Given the description of an element on the screen output the (x, y) to click on. 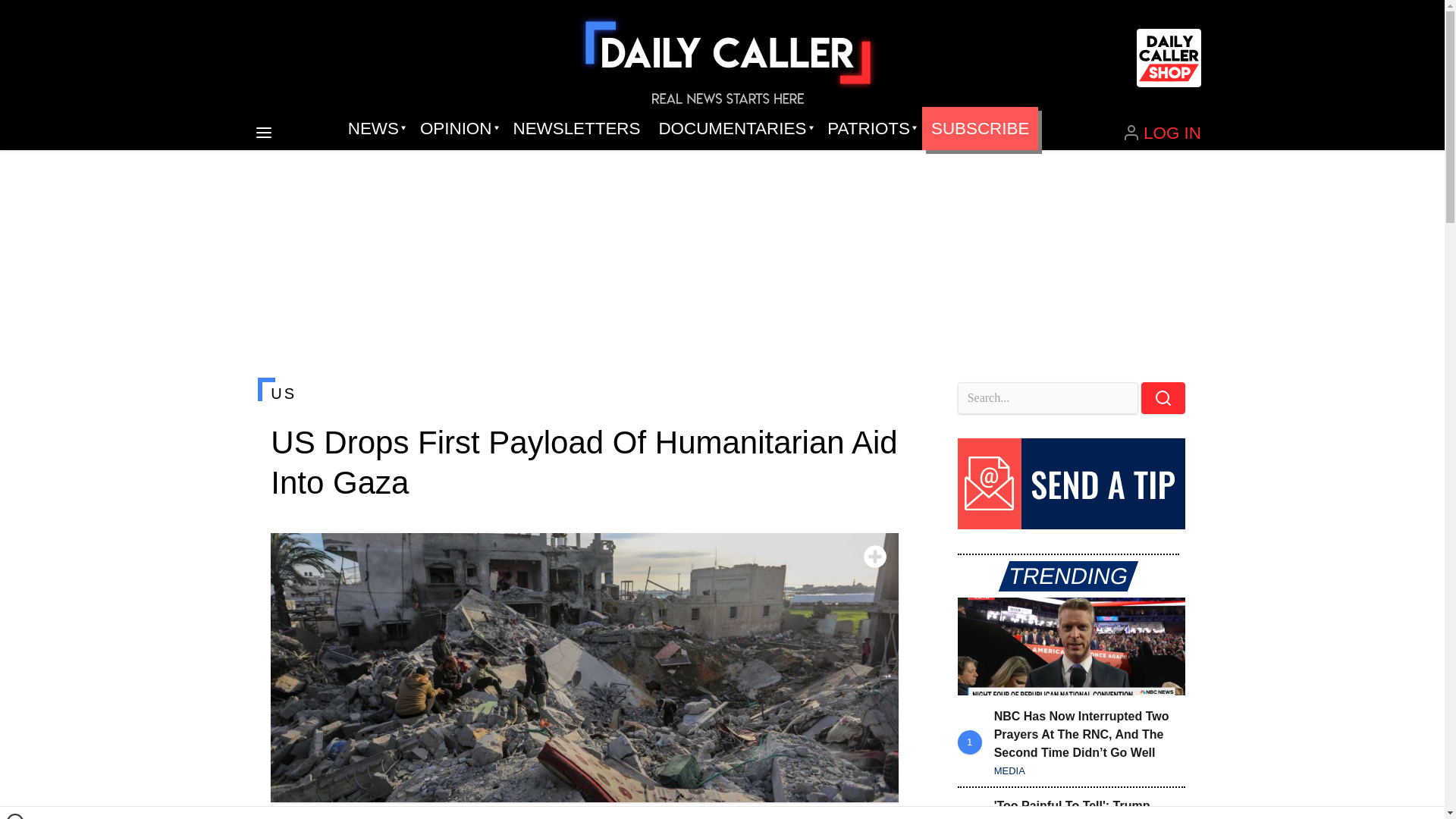
OPINION (456, 128)
Close window (14, 816)
SUBSCRIBE (979, 128)
Toggle fullscreen (874, 556)
NEWSLETTERS (576, 128)
US (584, 393)
NEWS (374, 128)
DOCUMENTARIES (733, 128)
PATRIOTS (869, 128)
